Given the description of an element on the screen output the (x, y) to click on. 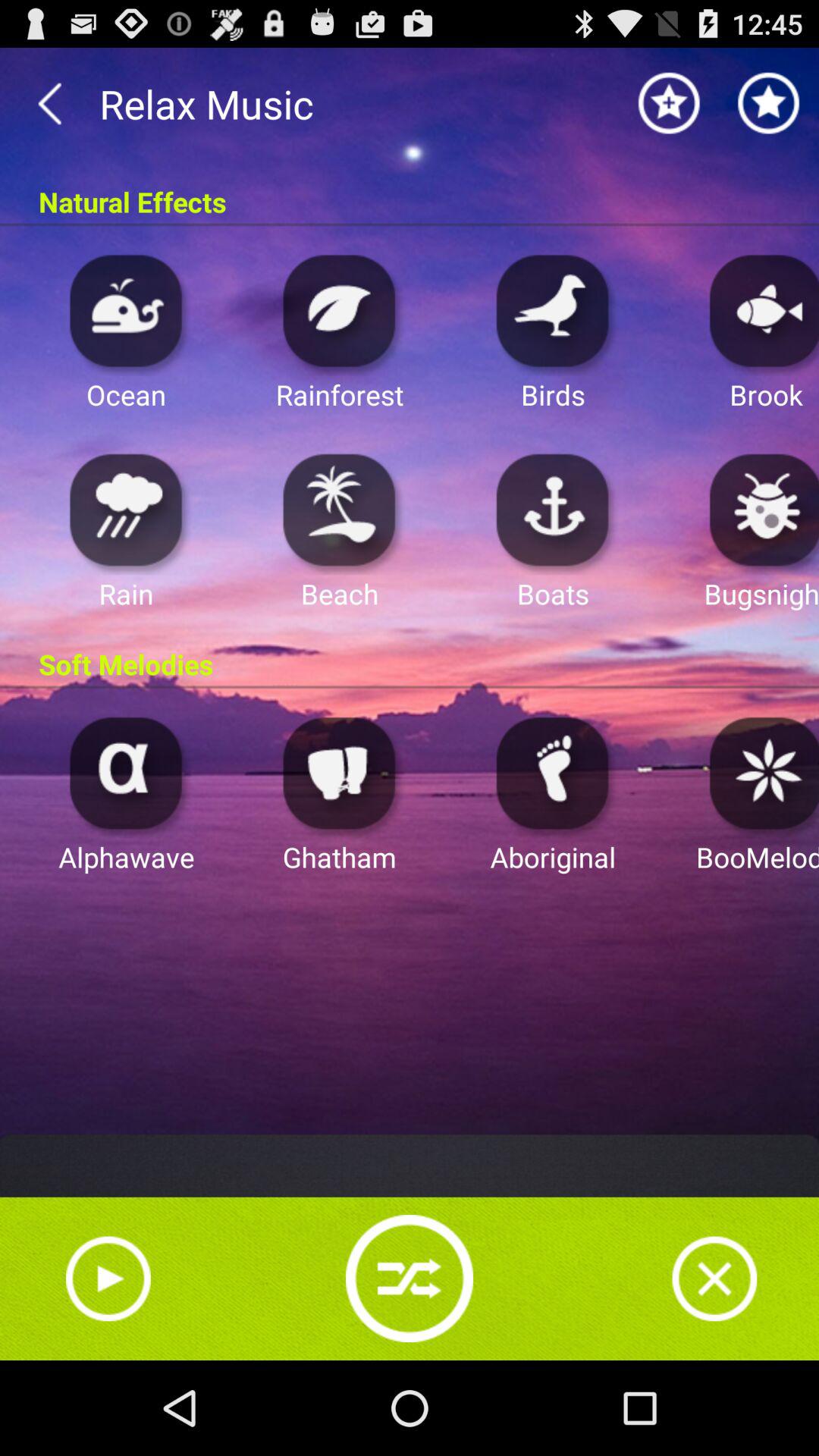
open app (759, 309)
